Given the description of an element on the screen output the (x, y) to click on. 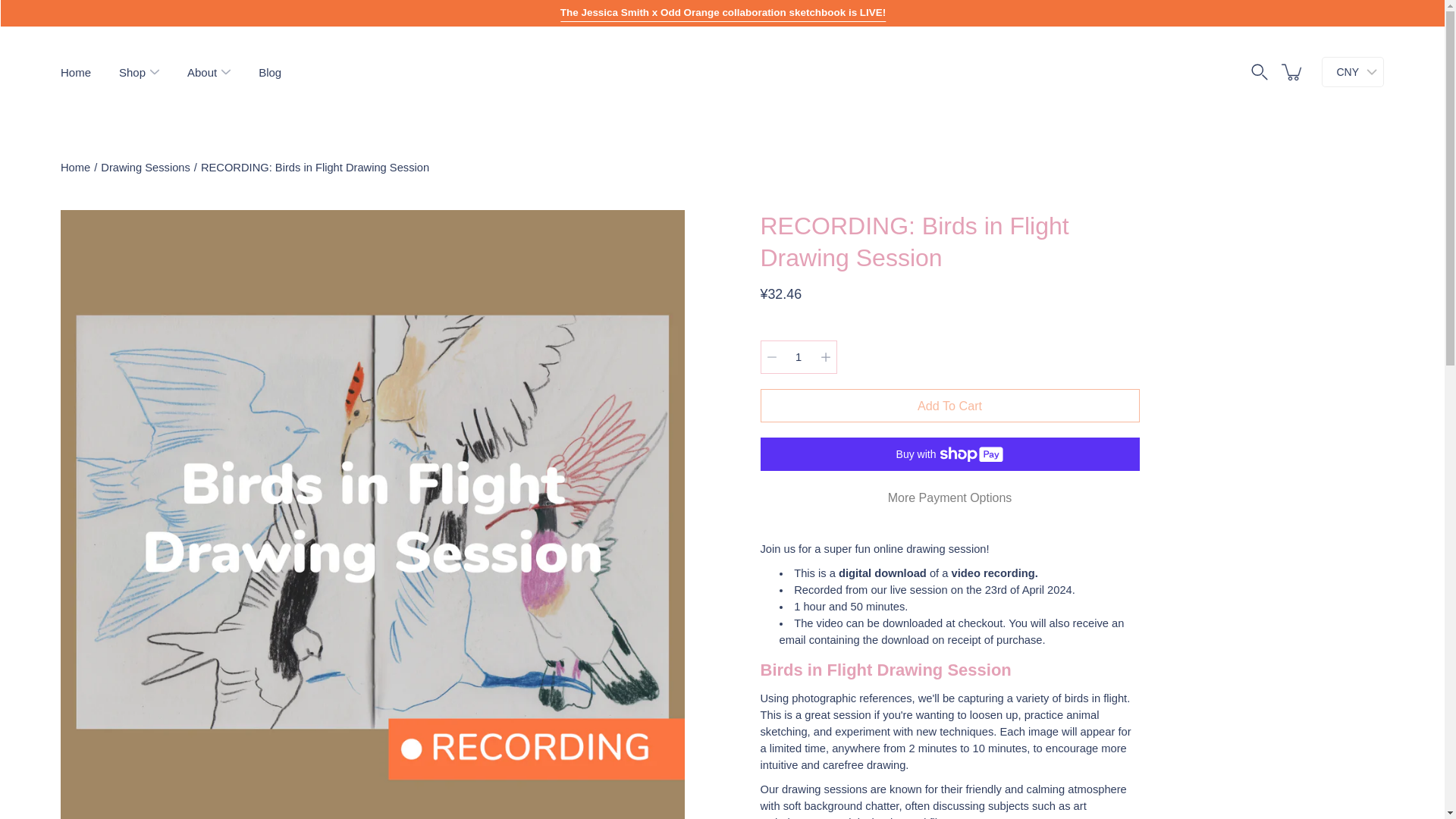
Blog (270, 71)
About (201, 71)
Home (75, 71)
1 (797, 356)
Shop (132, 71)
Back to the Homepage (75, 167)
Jessica Smith x Odd Orange Clothbound Sketchbook (722, 12)
